Given the description of an element on the screen output the (x, y) to click on. 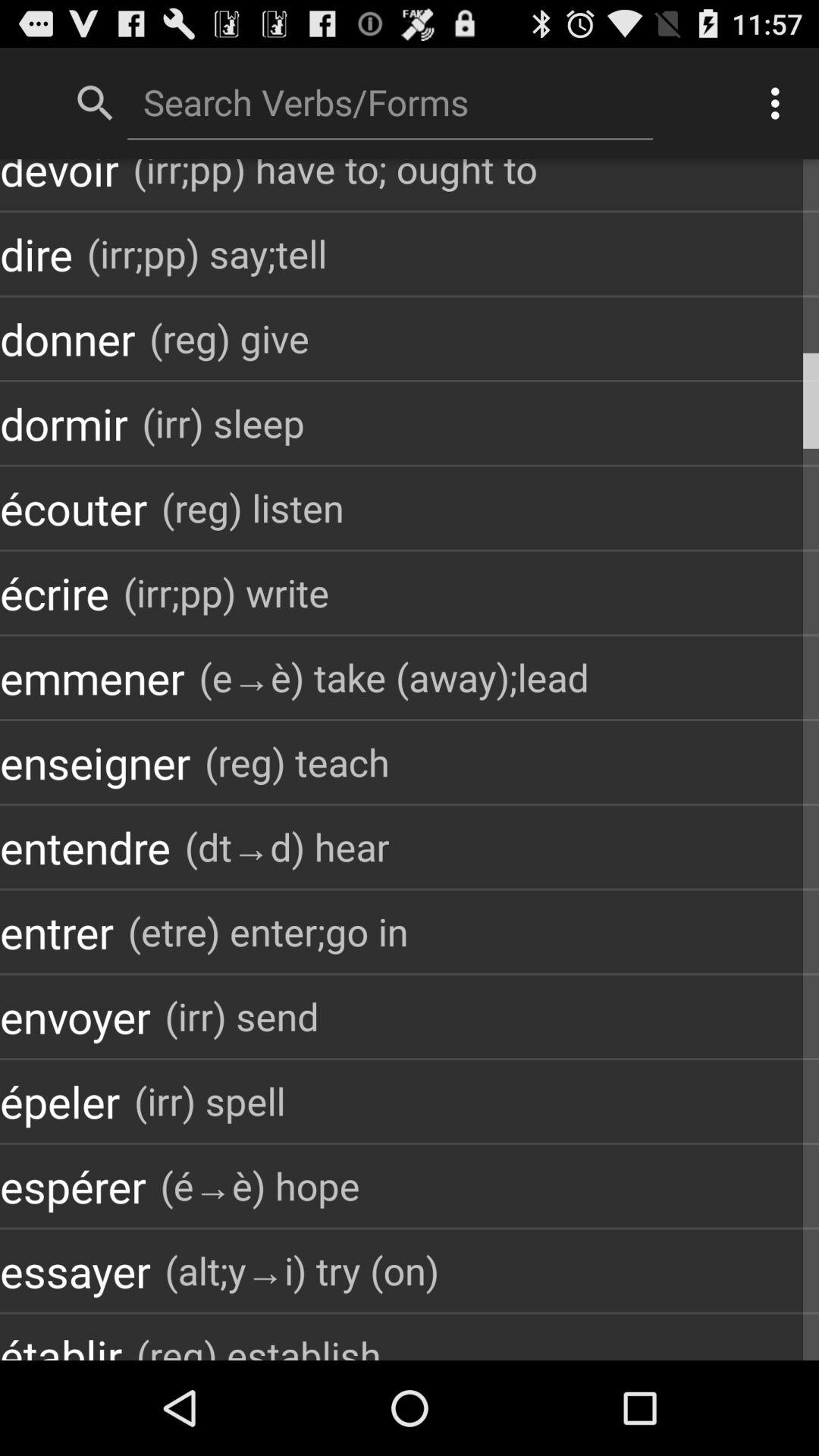
choose icon to the right of donner item (229, 338)
